Given the description of an element on the screen output the (x, y) to click on. 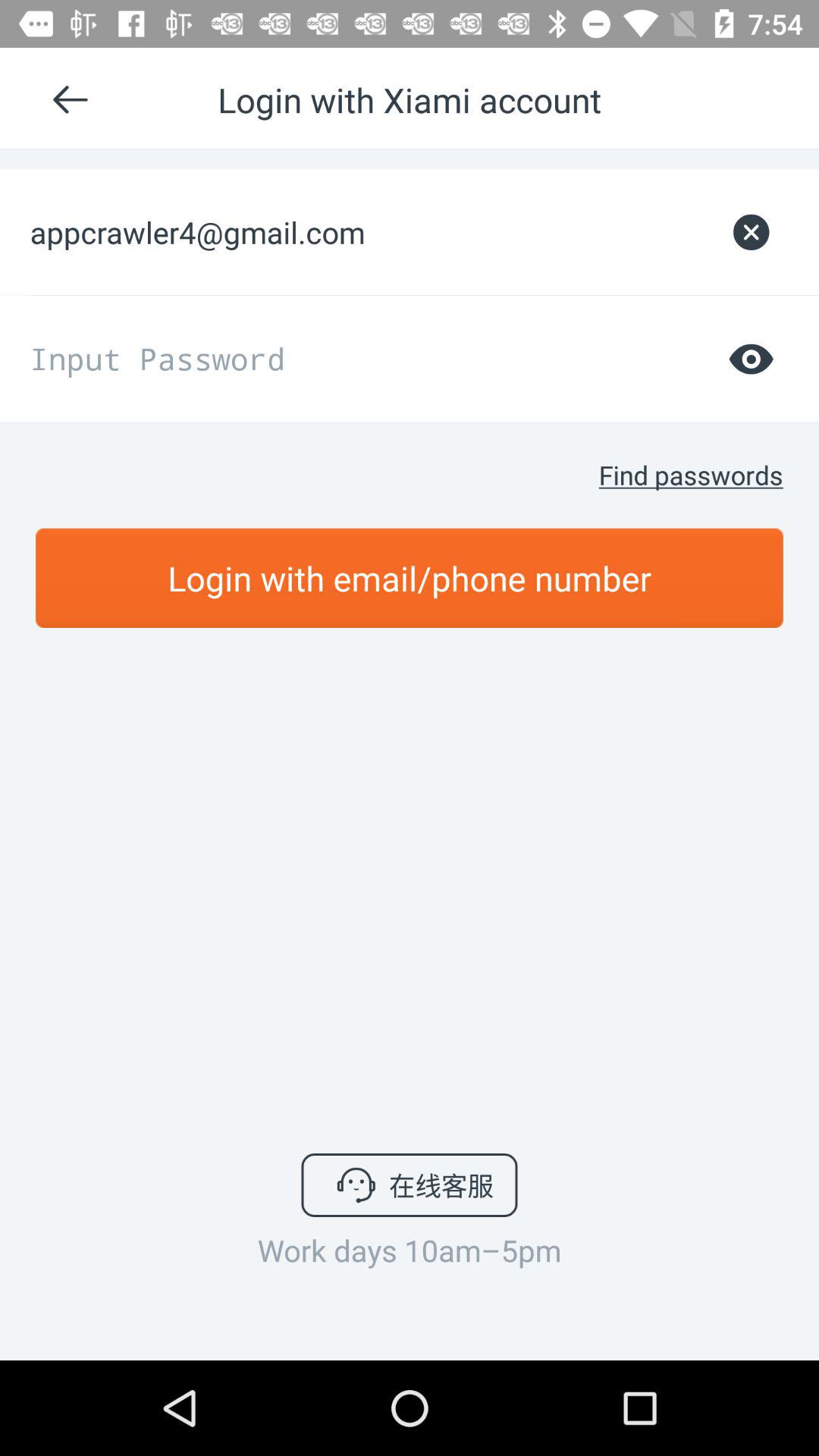
open the icon to the right of the appcrawler4@gmail.com icon (751, 231)
